Given the description of an element on the screen output the (x, y) to click on. 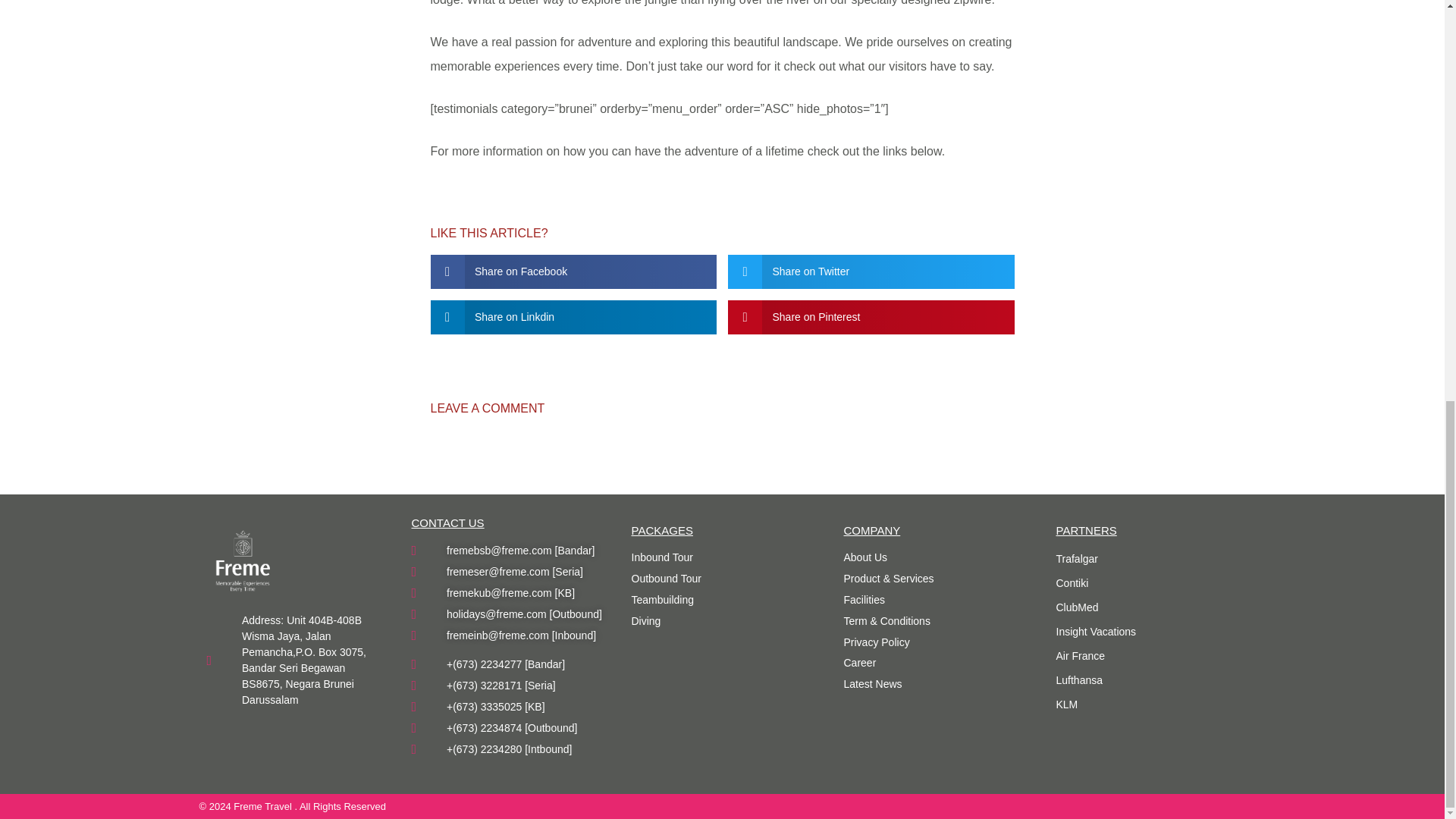
Diving (721, 621)
Outbound Tour (721, 578)
About Us (934, 557)
Facilities (934, 599)
Teambuilding (721, 599)
Inbound Tour (721, 557)
